Given the description of an element on the screen output the (x, y) to click on. 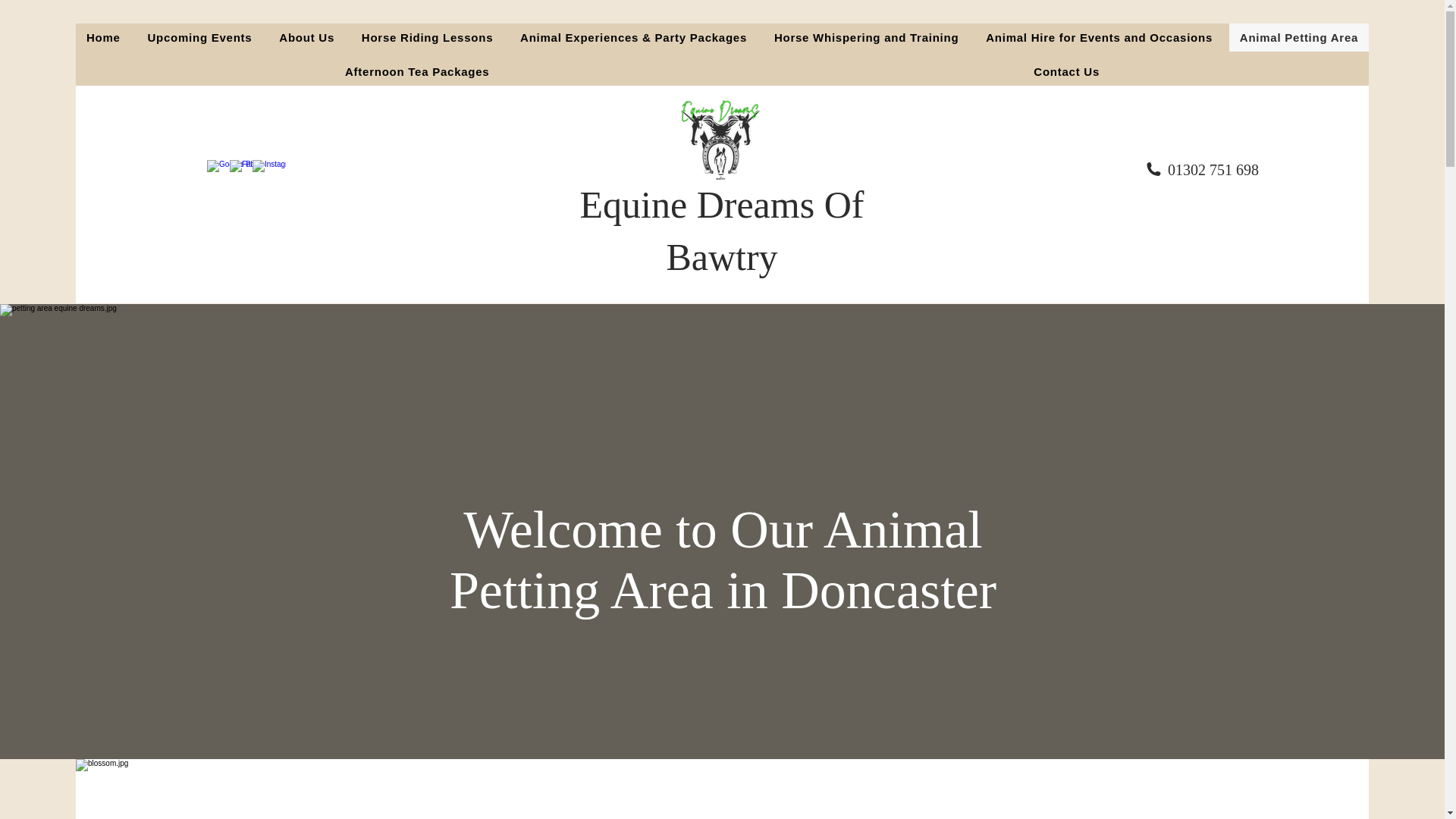
Home (103, 37)
Animal Petting Area (1298, 37)
Animal Hire for Events and Occasions (1099, 37)
Upcoming Events (199, 37)
About Us (306, 37)
01302 751 698 (1213, 169)
Afternoon Tea Packages (416, 71)
Horse Whispering and Training (865, 37)
Equine Dreams Of Bawtry (721, 230)
Horse Riding Lessons (426, 37)
Contact Us (1066, 71)
